Given the description of an element on the screen output the (x, y) to click on. 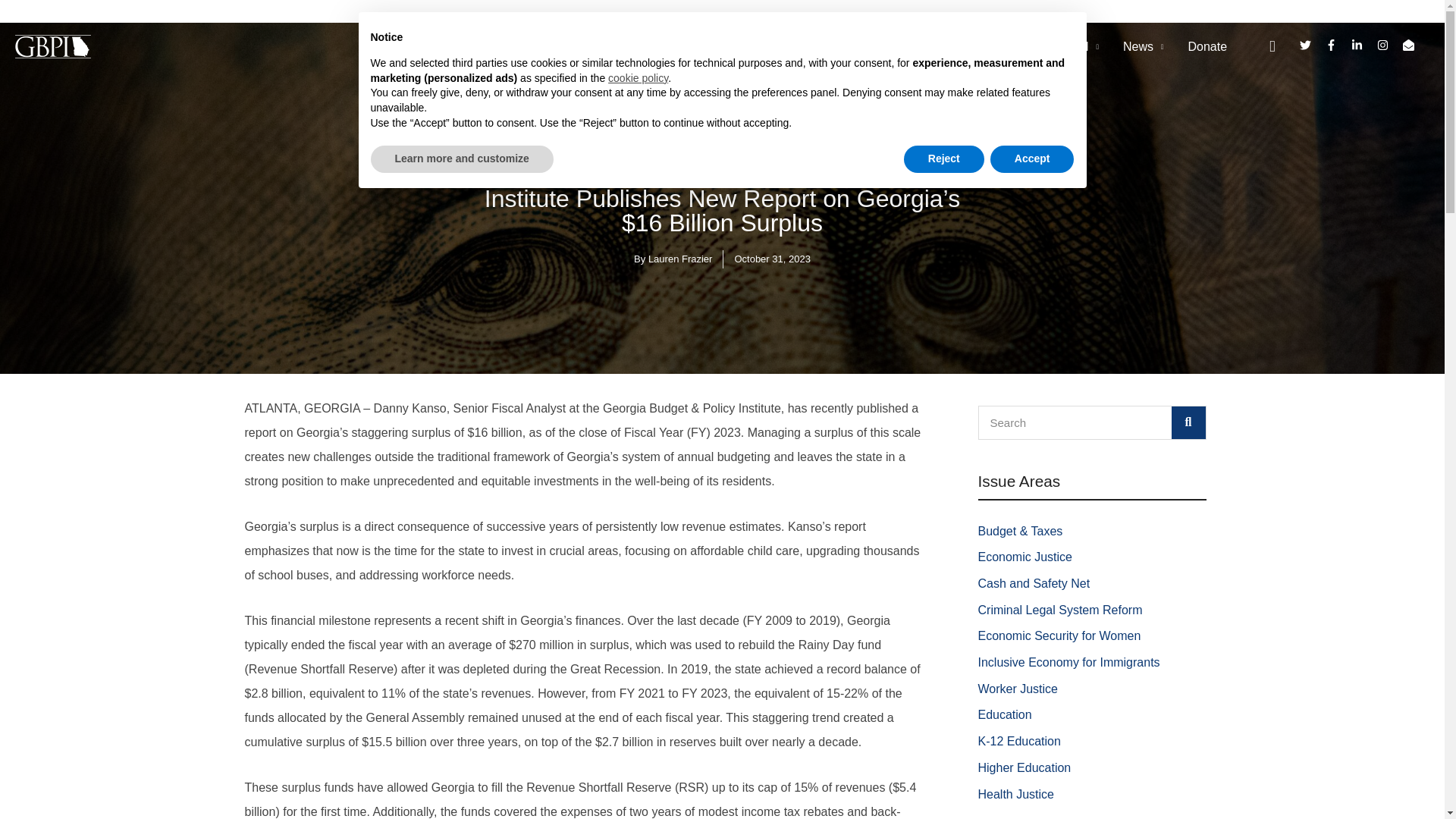
Research (965, 46)
Policy Priorities (863, 46)
About (770, 46)
